Given the description of an element on the screen output the (x, y) to click on. 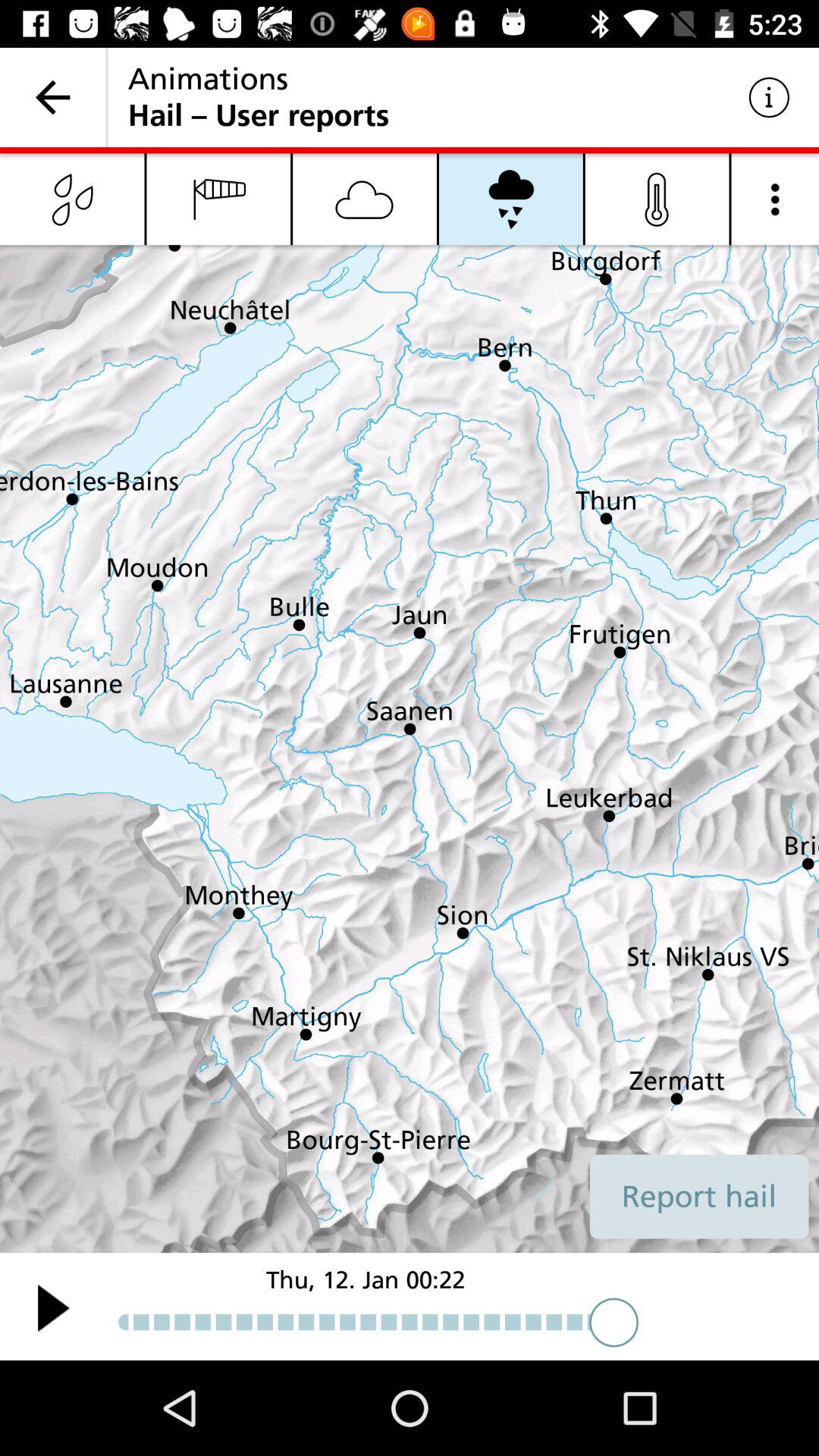
more option (775, 199)
